Given the description of an element on the screen output the (x, y) to click on. 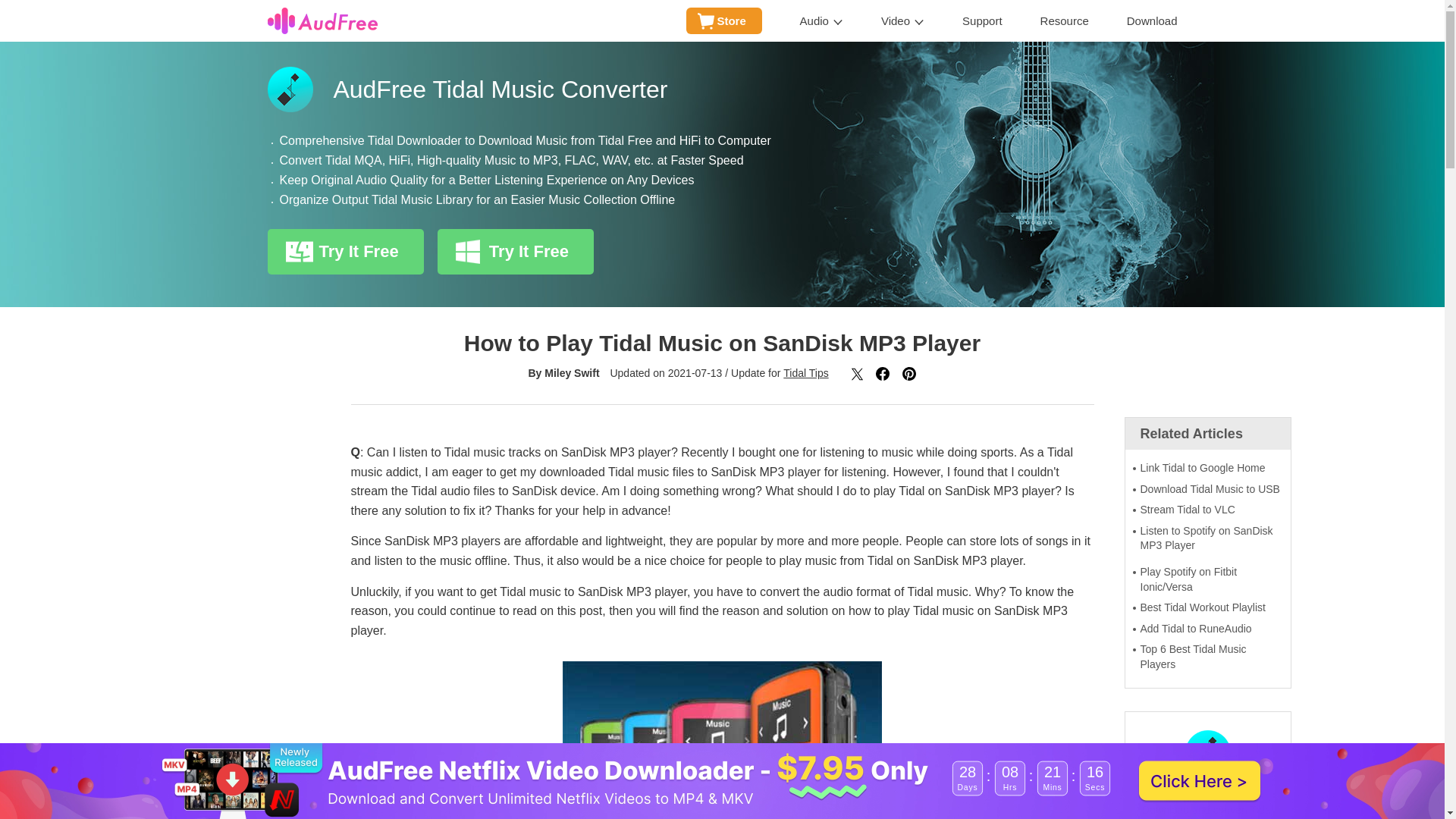
Audio (820, 20)
Add Tidal to RuneAudio (1207, 629)
Store (723, 20)
Download Tidal Music to USB (1207, 489)
Stream Tidal to VLC (1207, 509)
Tidal Tips (805, 372)
Link Tidal to Google Home (1207, 468)
Try It Free (516, 251)
Video (902, 20)
Try It Free (344, 251)
